Given the description of an element on the screen output the (x, y) to click on. 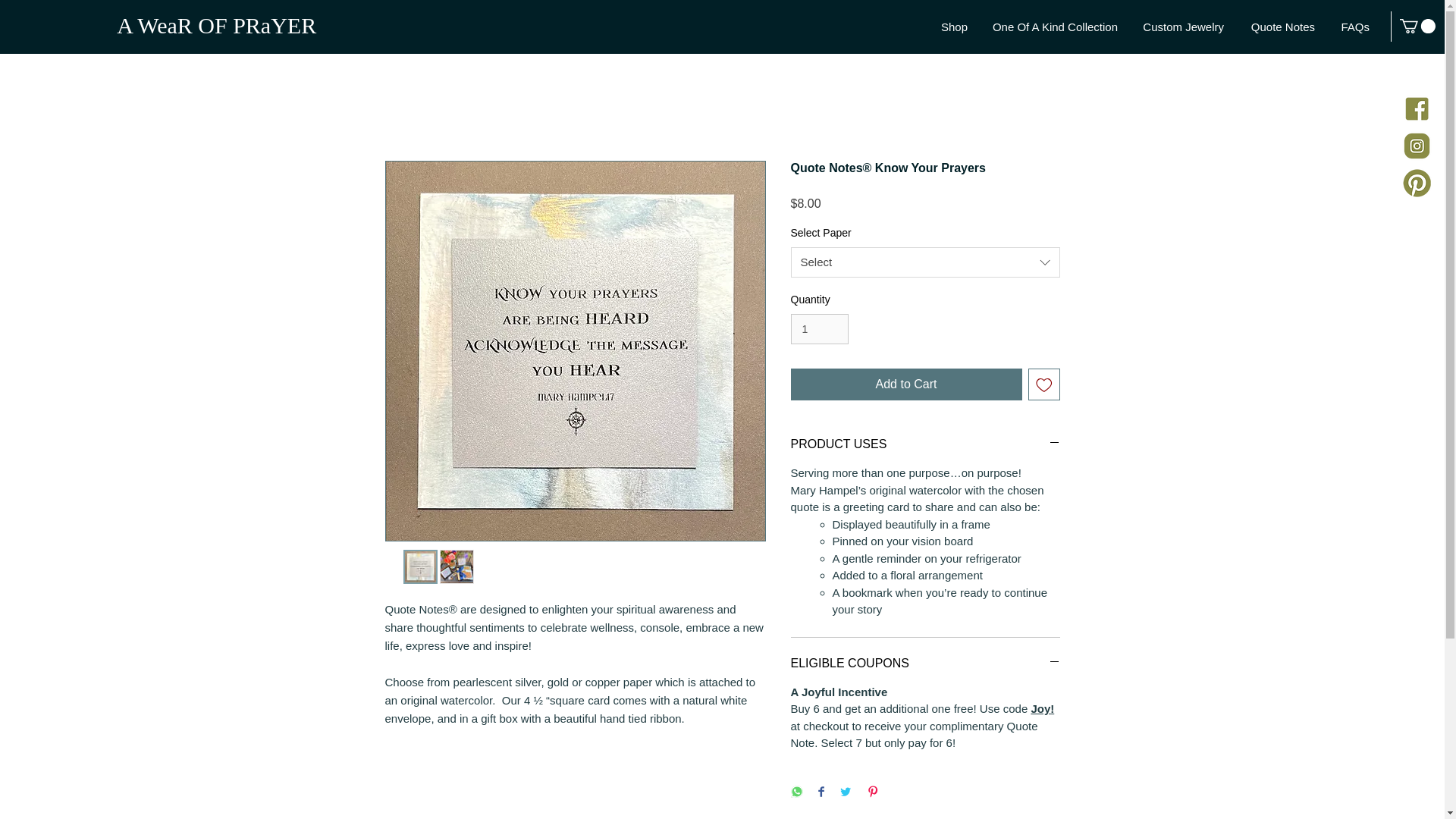
PRODUCT USES (924, 444)
Select (924, 262)
Quote Notes (1280, 26)
One Of A Kind Collection (1053, 26)
Add to Cart (906, 384)
FAQs (1353, 26)
A WeaR OF PRaYER (215, 25)
Custom Jewelry (1181, 26)
1 (818, 328)
Shop (951, 26)
ELIGIBLE COUPONS (924, 663)
